Given the description of an element on the screen output the (x, y) to click on. 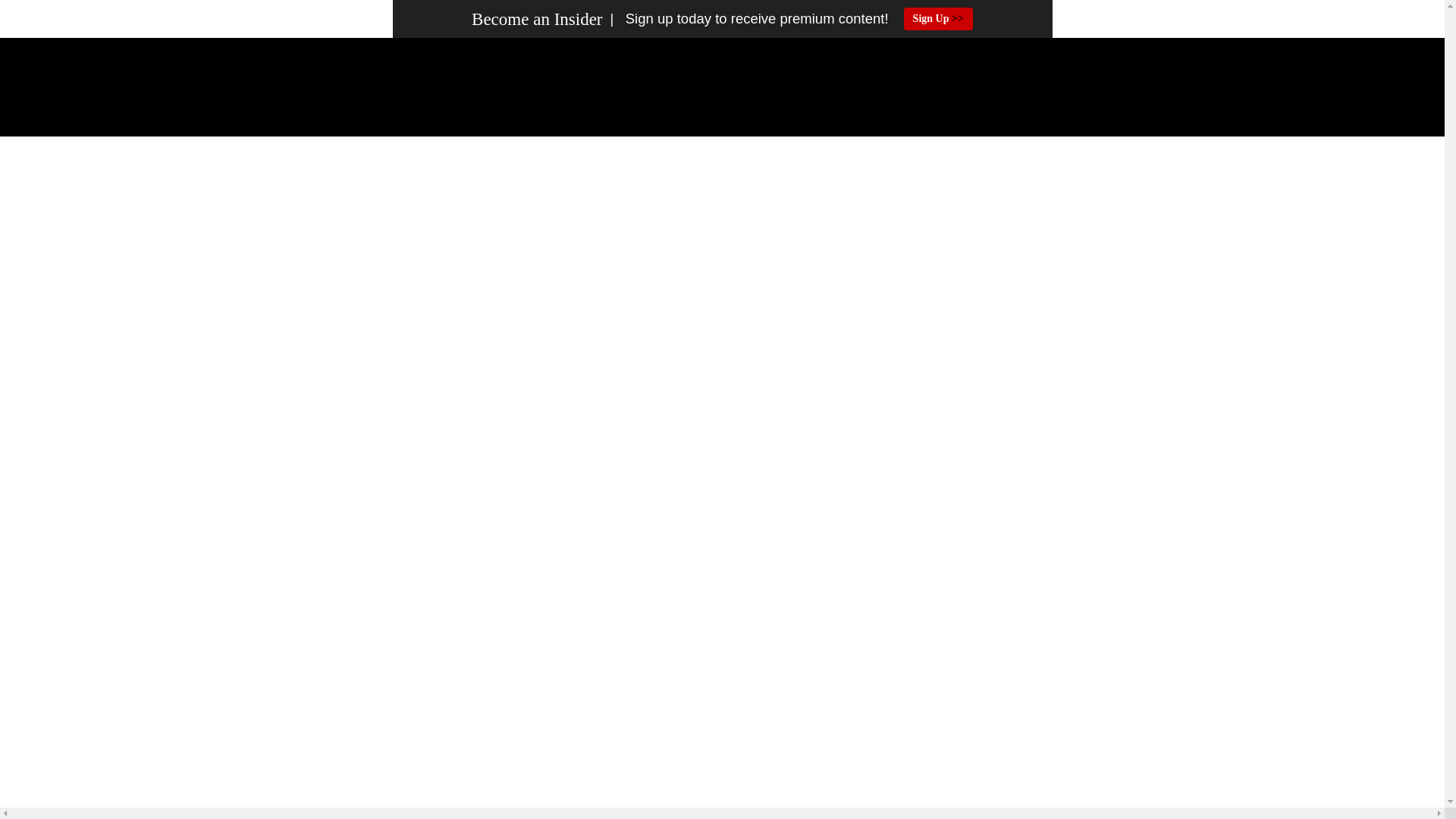
Become an Insider (536, 18)
Sign up today to receive premium content! (745, 19)
Sign Up (938, 18)
